Given the description of an element on the screen output the (x, y) to click on. 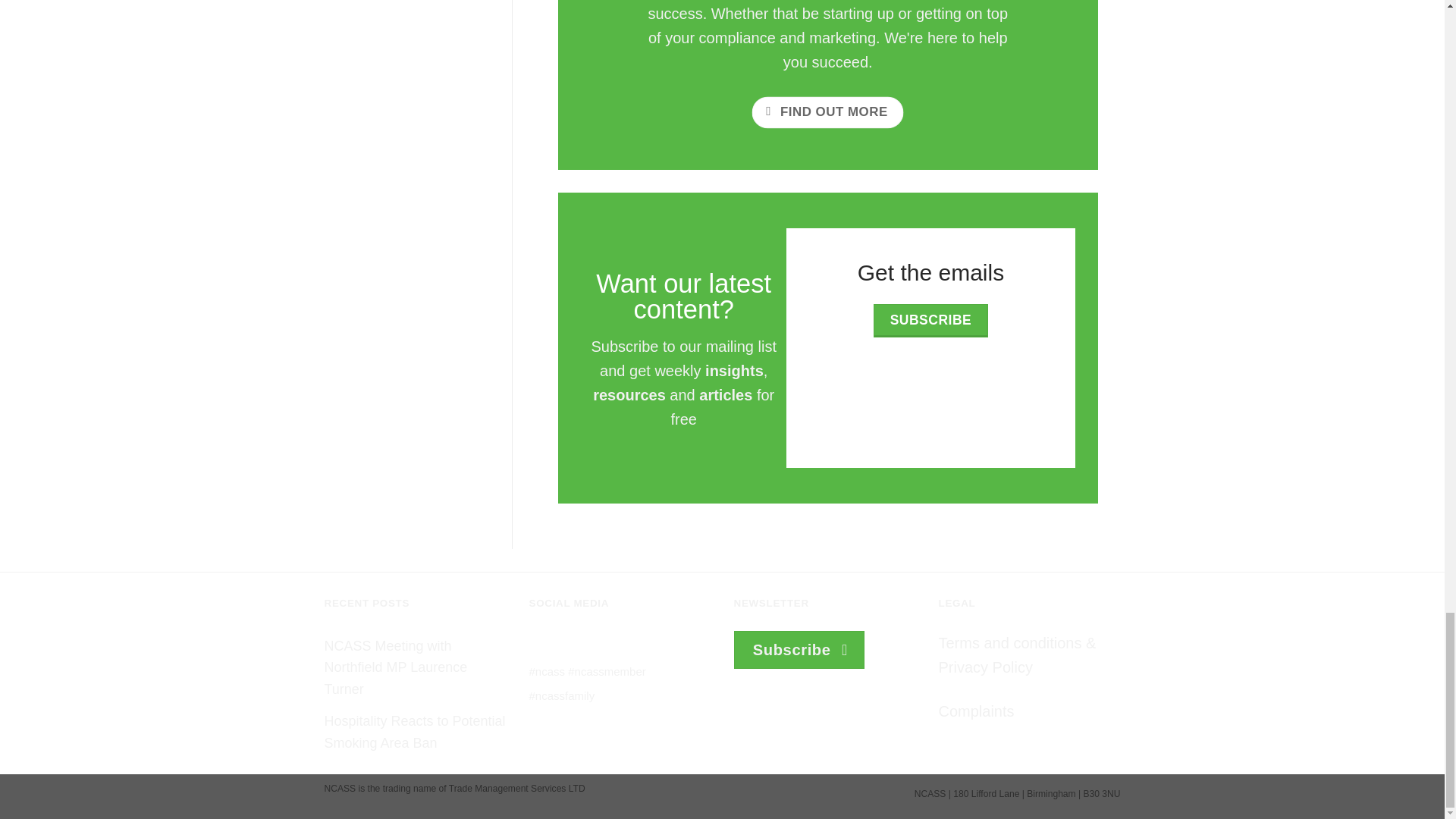
Follow on Facebook (541, 643)
Follow on Instagram (567, 643)
Follow on YouTube (618, 643)
Follow on Twitter (593, 643)
